Given the description of an element on the screen output the (x, y) to click on. 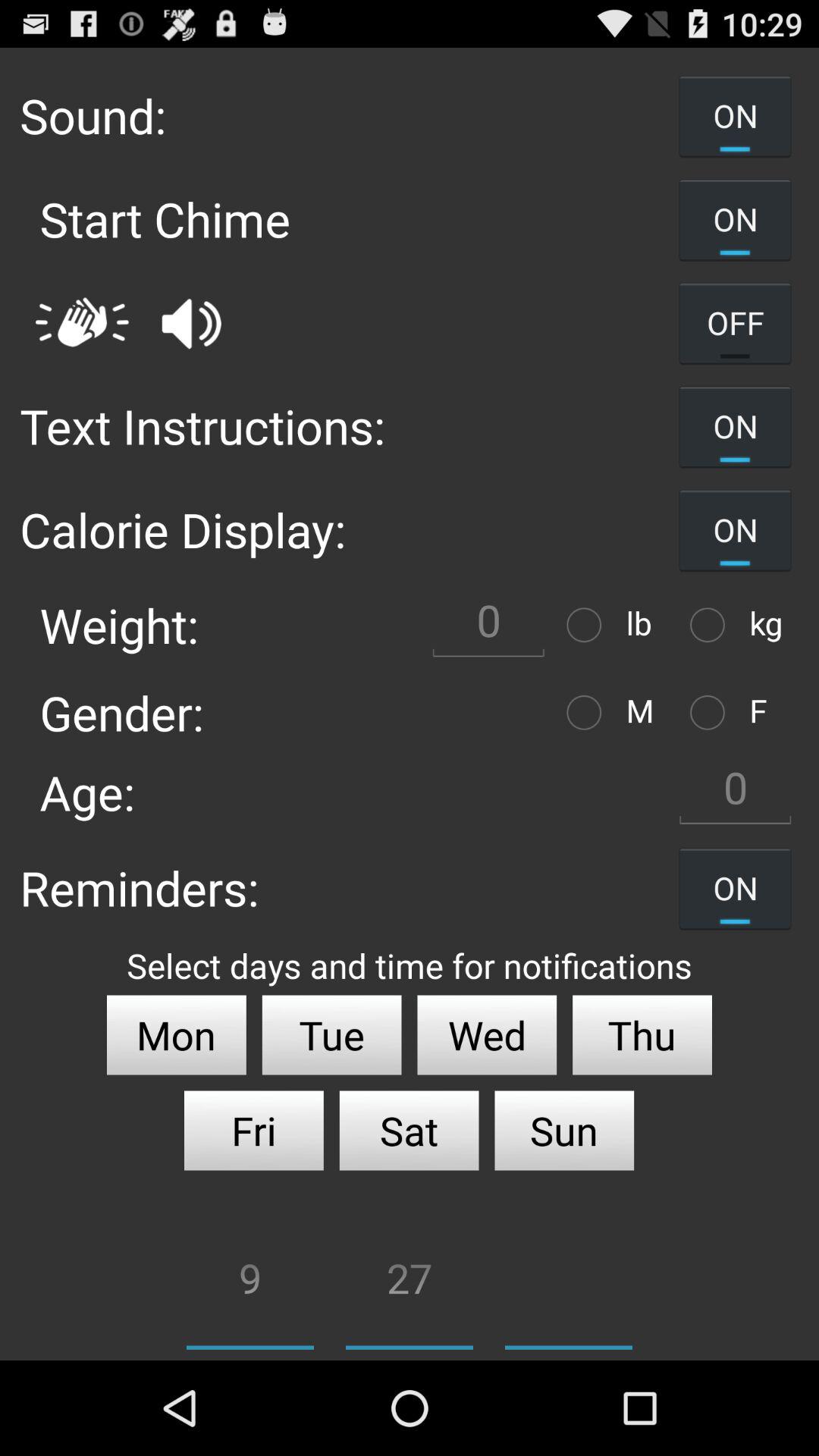
radio button to select weight in pounds (587, 624)
